Given the description of an element on the screen output the (x, y) to click on. 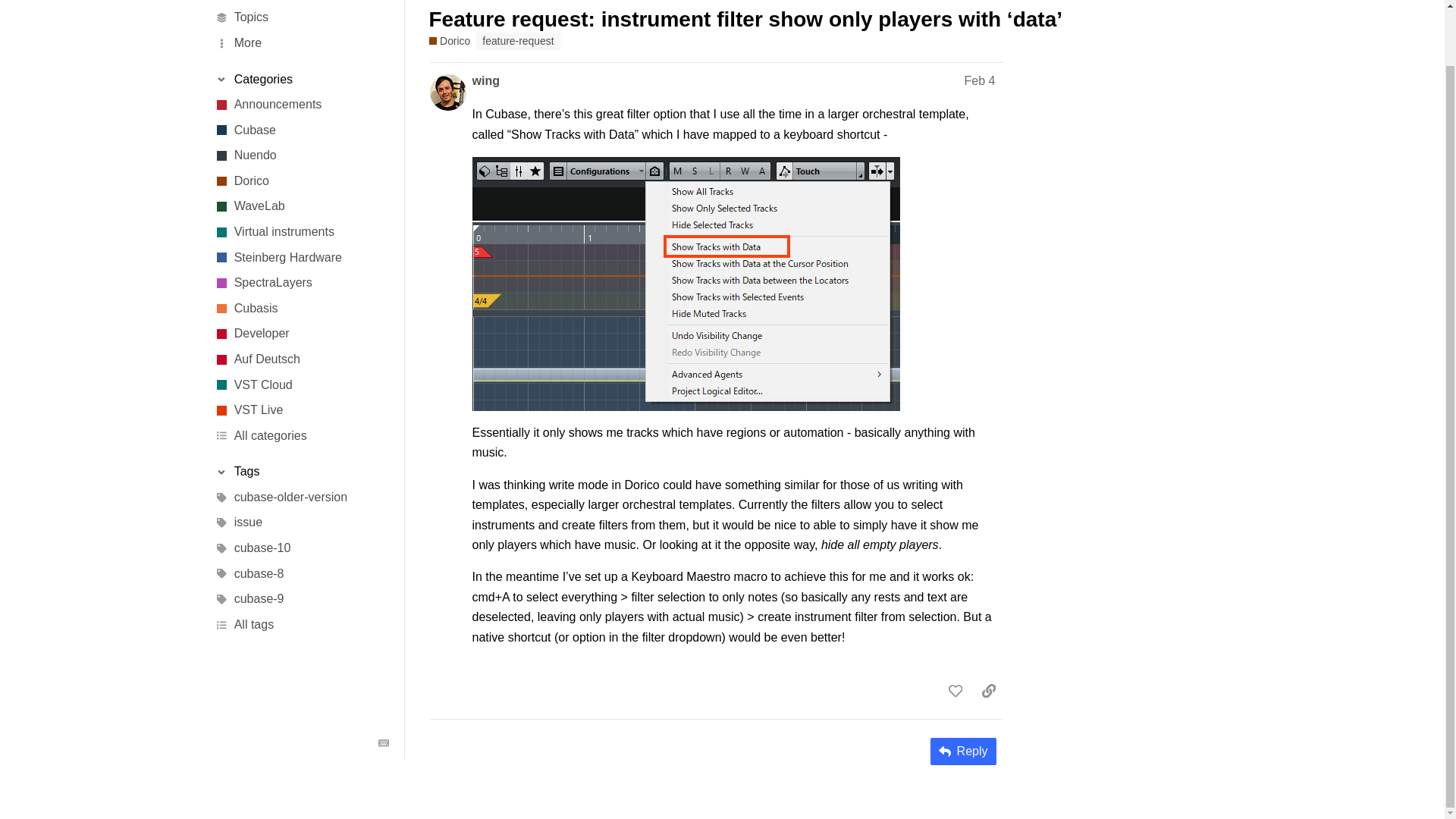
Developer Forums (301, 334)
Cubase (301, 130)
All tags (301, 624)
Tags (301, 472)
Virtual instruments (301, 231)
SpectraLayers (301, 283)
More (301, 43)
The number one mastering and audio editing software. (301, 207)
Toggle section (301, 79)
Topics (301, 17)
VST Cloud (301, 385)
Toggle section (301, 472)
Professional music notation and composition software. (301, 181)
Professional music production software. (301, 130)
All topics (301, 17)
